Given the description of an element on the screen output the (x, y) to click on. 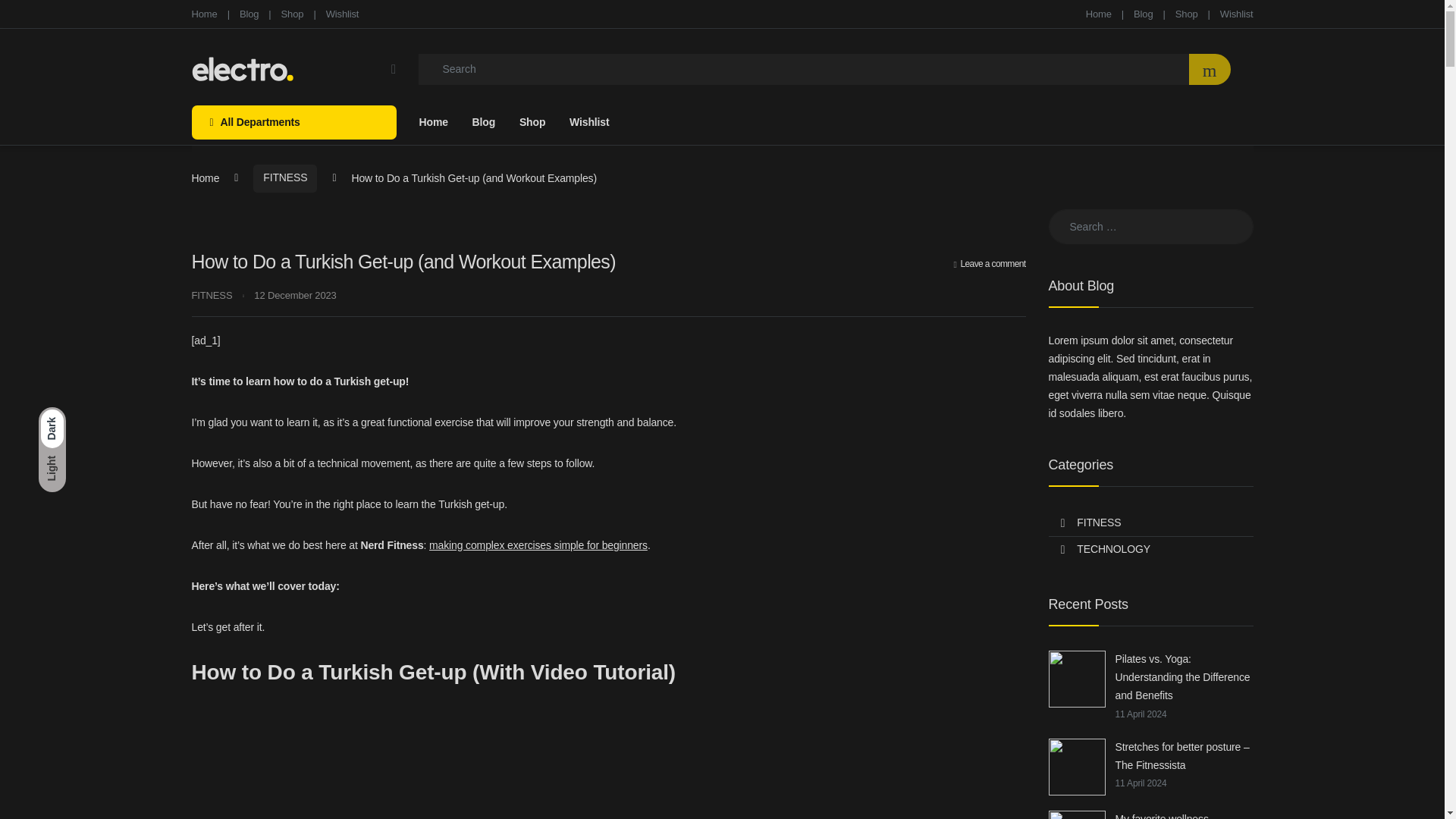
All Departments (293, 122)
Home (203, 13)
Wishlist (342, 13)
FITNESS (285, 178)
Home (1099, 13)
12 December 2023 (294, 295)
Leave a comment (989, 264)
Wishlist (588, 122)
Home (1099, 13)
Wishlist (1236, 13)
